Given the description of an element on the screen output the (x, y) to click on. 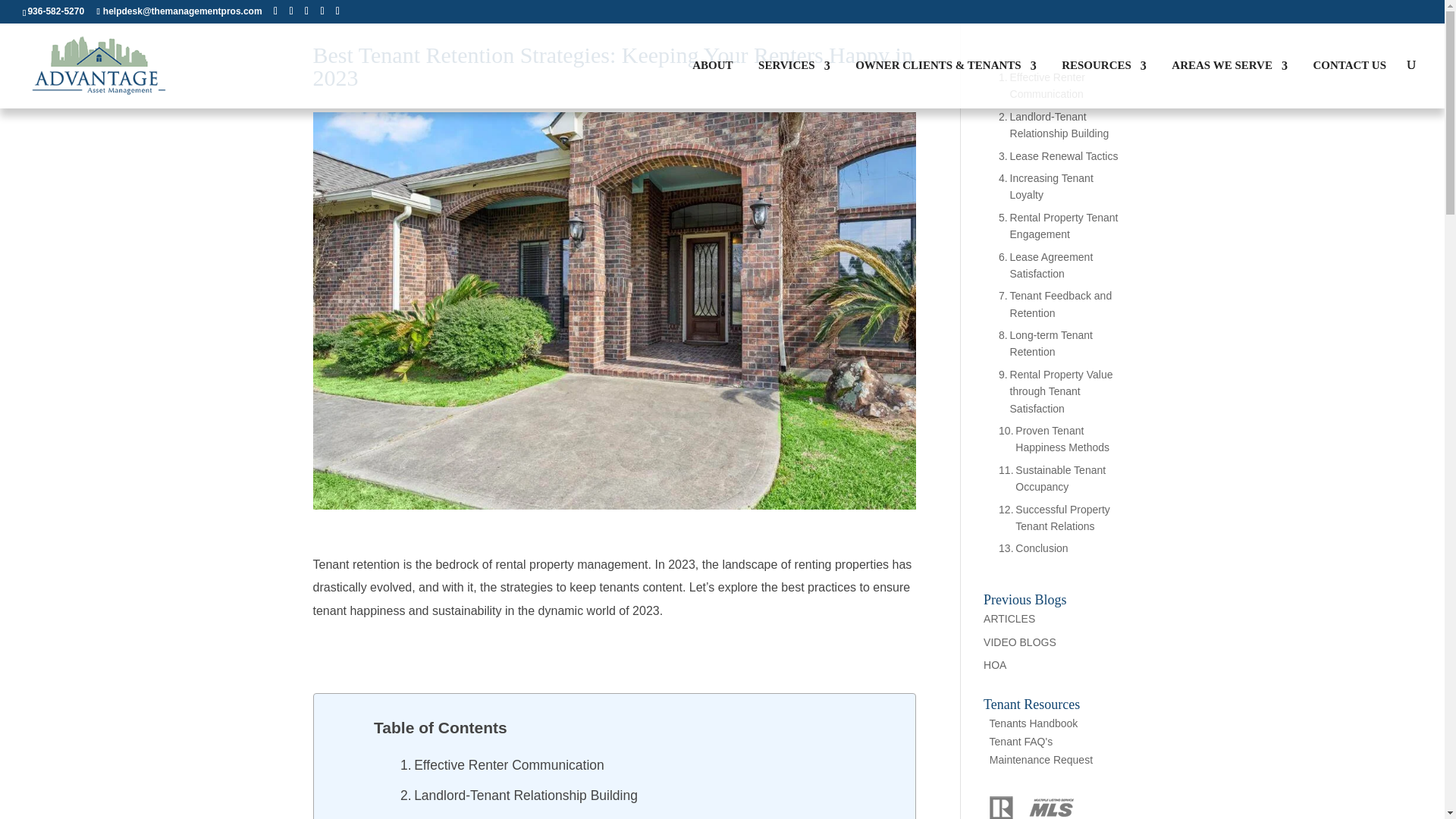
AREAS WE SERVE (1229, 83)
Landlord-Tenant Relationship Building (1057, 125)
SERVICES (793, 83)
Effective Renter Communication  (504, 765)
CONTACT US (1349, 83)
RESOURCES (1104, 83)
Landlord-Tenant Relationship Building (518, 795)
